Given the description of an element on the screen output the (x, y) to click on. 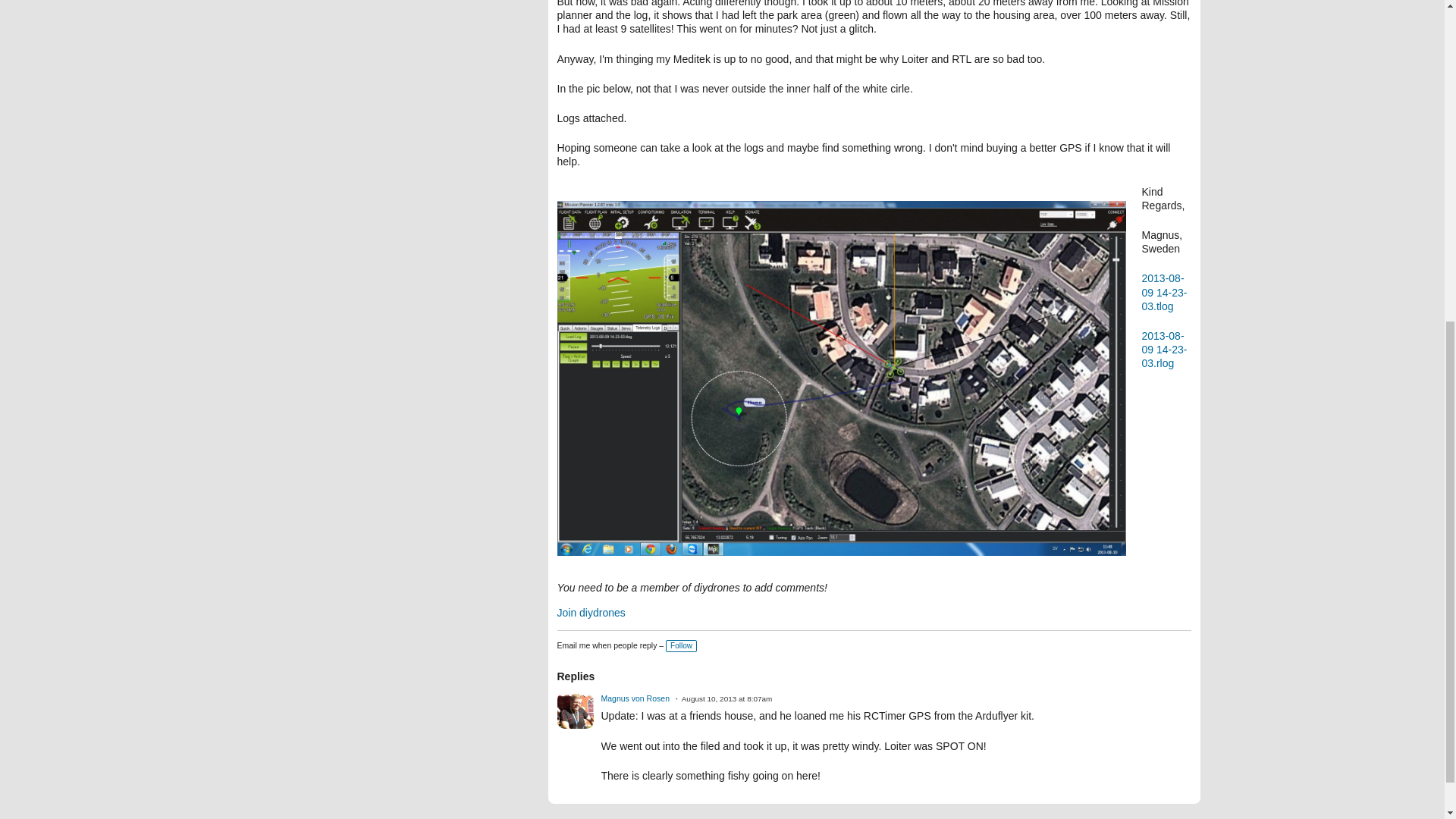
Magnus von Rosen (633, 697)
2013-08-09 14-23-03.tlog (1164, 291)
2013-08-09 14-23-03.rlog (1164, 349)
Join diydrones (590, 612)
Follow (681, 645)
